Given the description of an element on the screen output the (x, y) to click on. 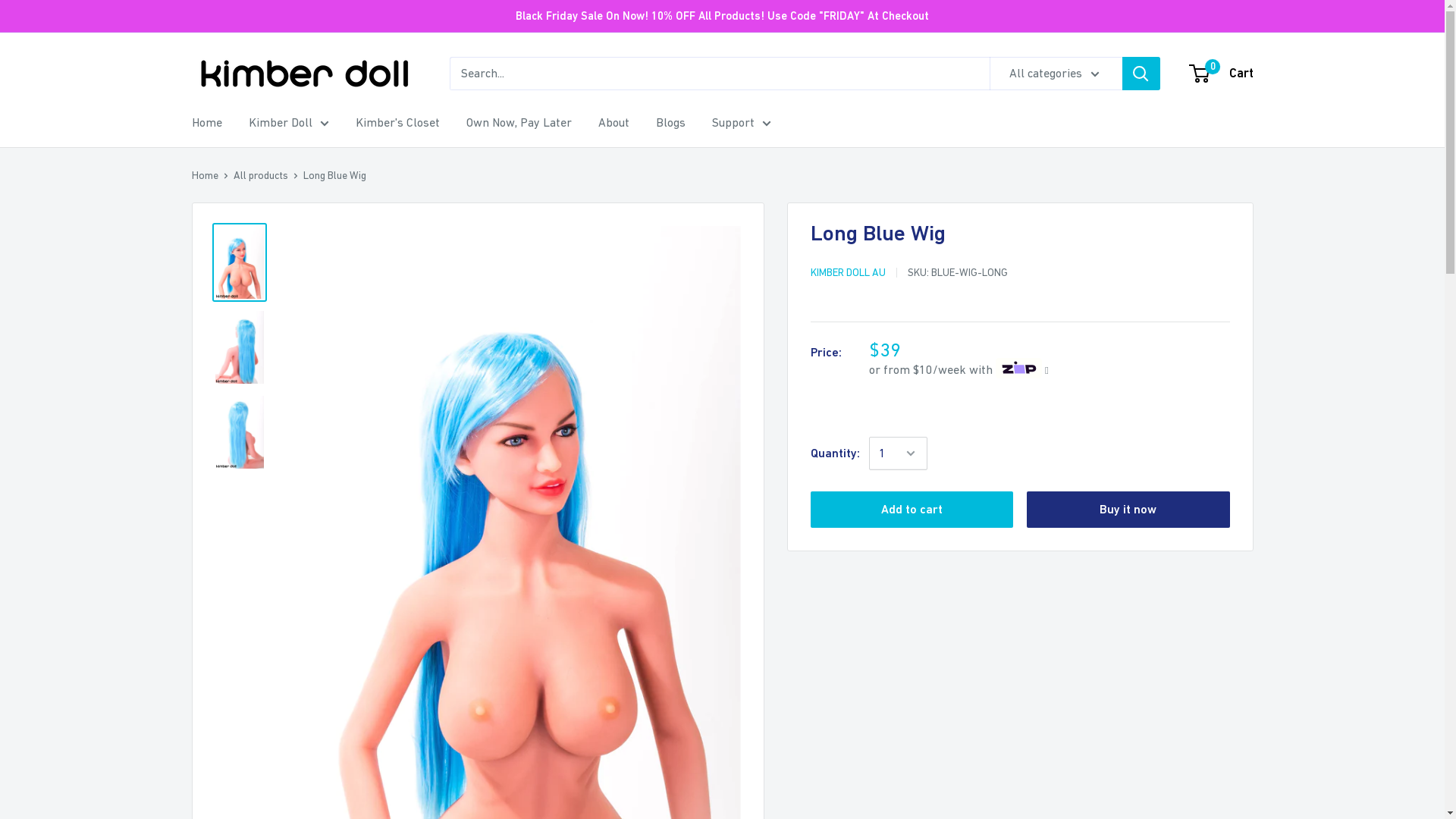
Kimber Doll Element type: text (288, 122)
Home Element type: text (204, 175)
About Element type: text (612, 122)
KIMBER DOLL AU Element type: text (846, 272)
Support Element type: text (740, 122)
0
Cart Element type: text (1221, 73)
Kimber's Closet Element type: text (396, 122)
All products Element type: text (260, 175)
Buy it now Element type: text (1128, 509)
Home Element type: text (206, 122)
Blogs Element type: text (669, 122)
Add to cart Element type: text (911, 509)
Own Now, Pay Later Element type: text (518, 122)
